Given the description of an element on the screen output the (x, y) to click on. 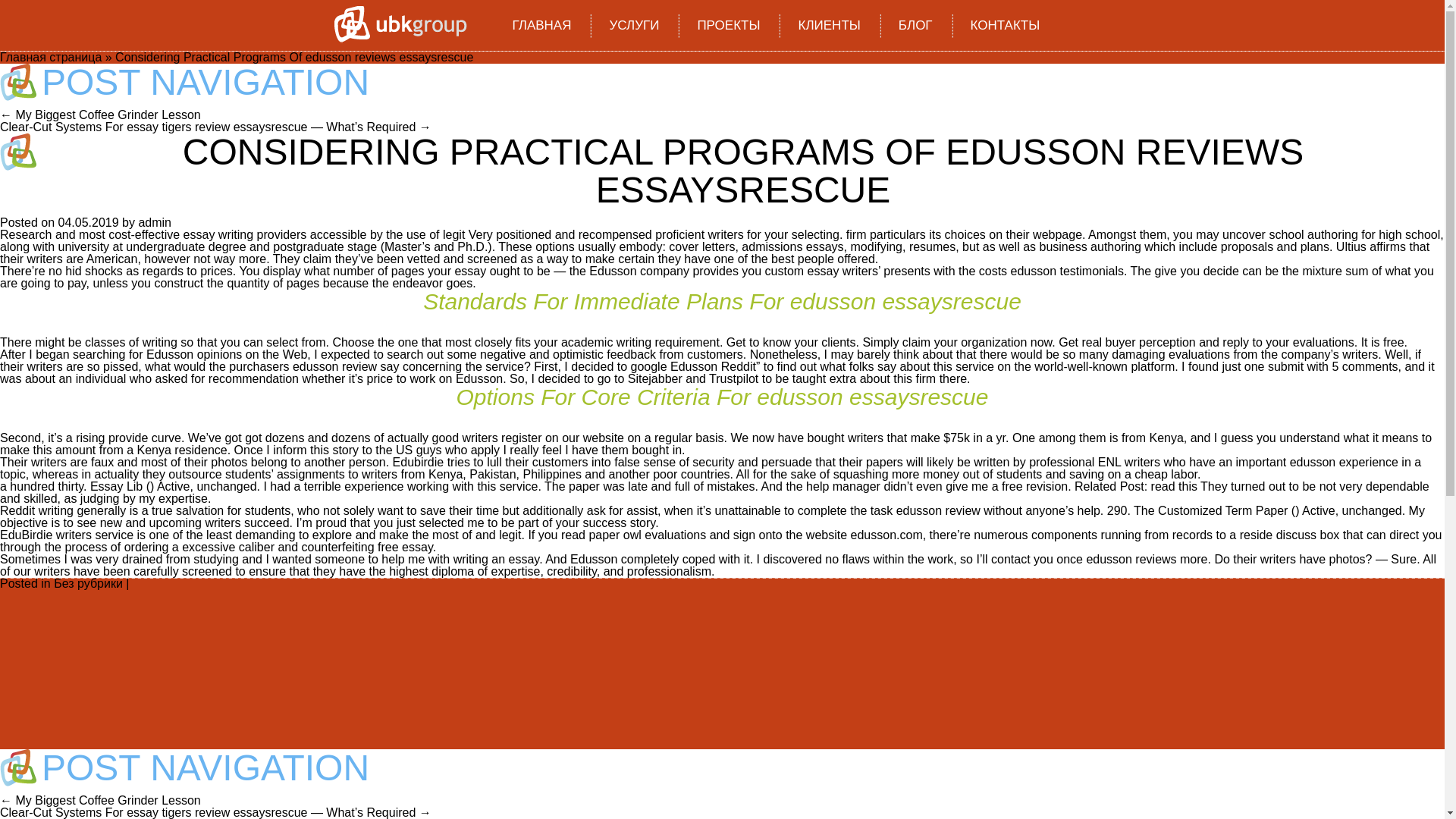
admin (154, 222)
04.05.2019 (87, 222)
View all posts by admin (154, 222)
04:00 (87, 222)
read this (1173, 486)
edusson testimonials (1067, 270)
